Given the description of an element on the screen output the (x, y) to click on. 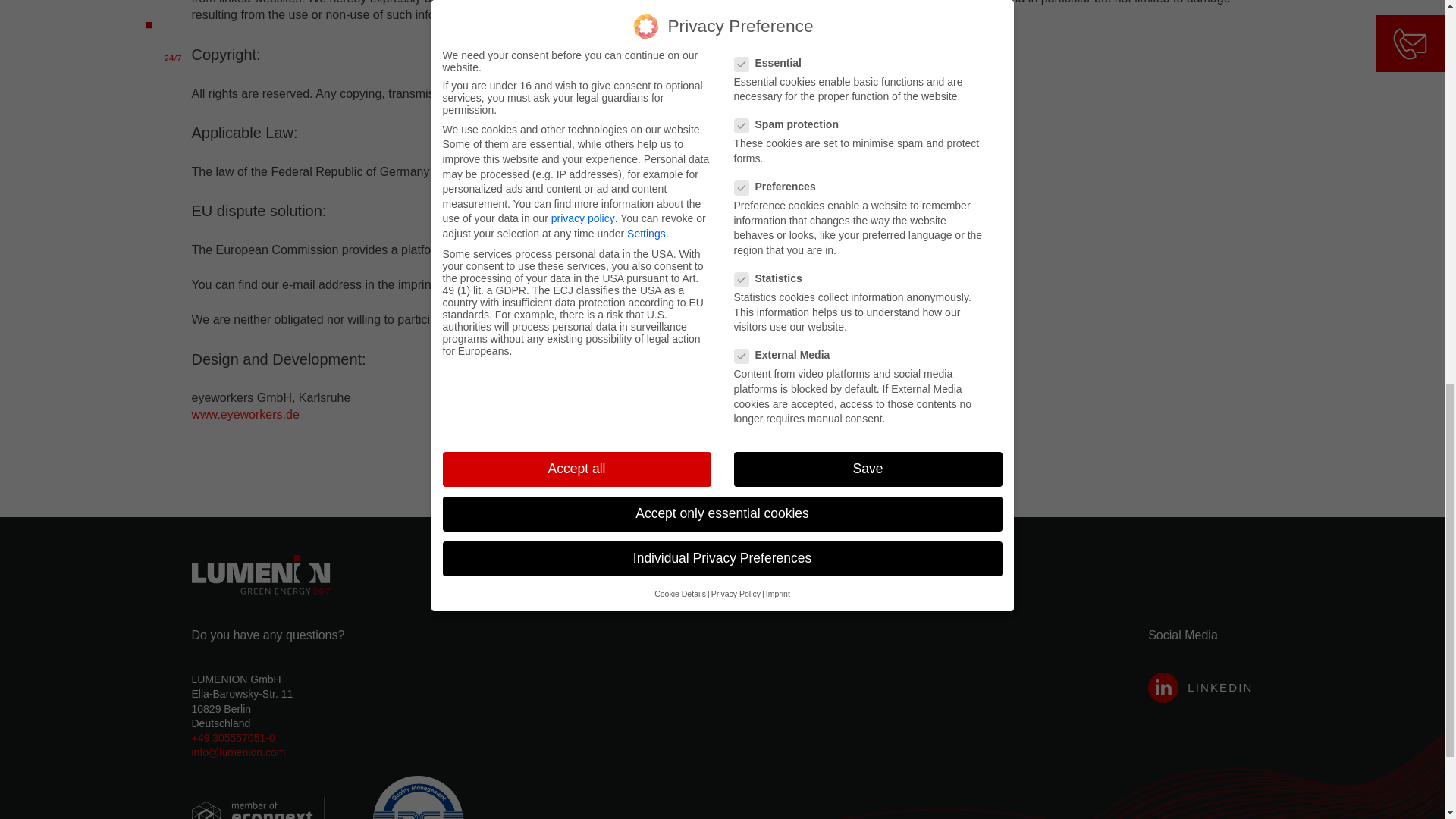
www.eyeworkers.de (244, 413)
LINKEDIN (1200, 687)
